Given the description of an element on the screen output the (x, y) to click on. 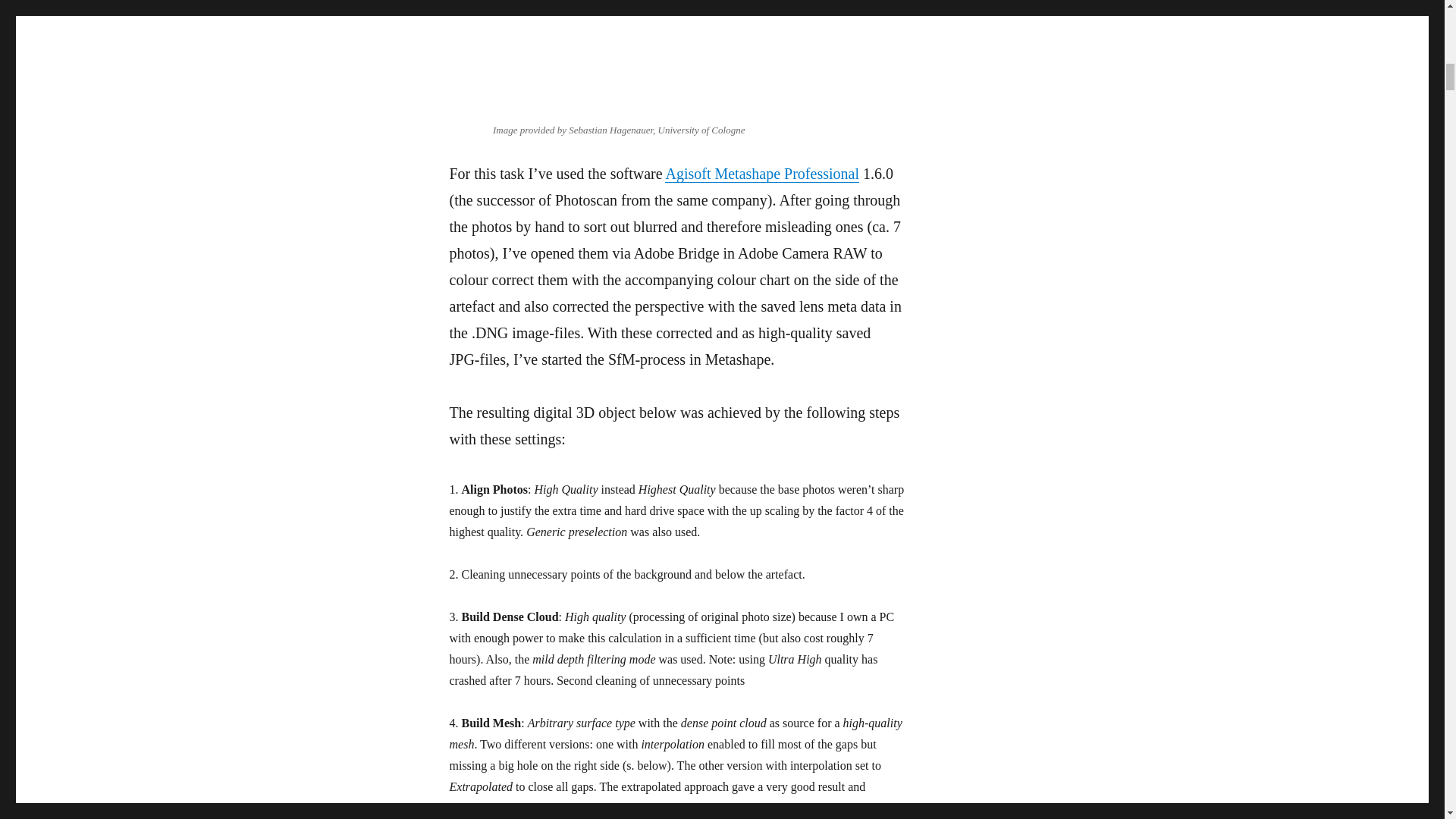
Agisoft Metashape Professional (762, 173)
